Given the description of an element on the screen output the (x, y) to click on. 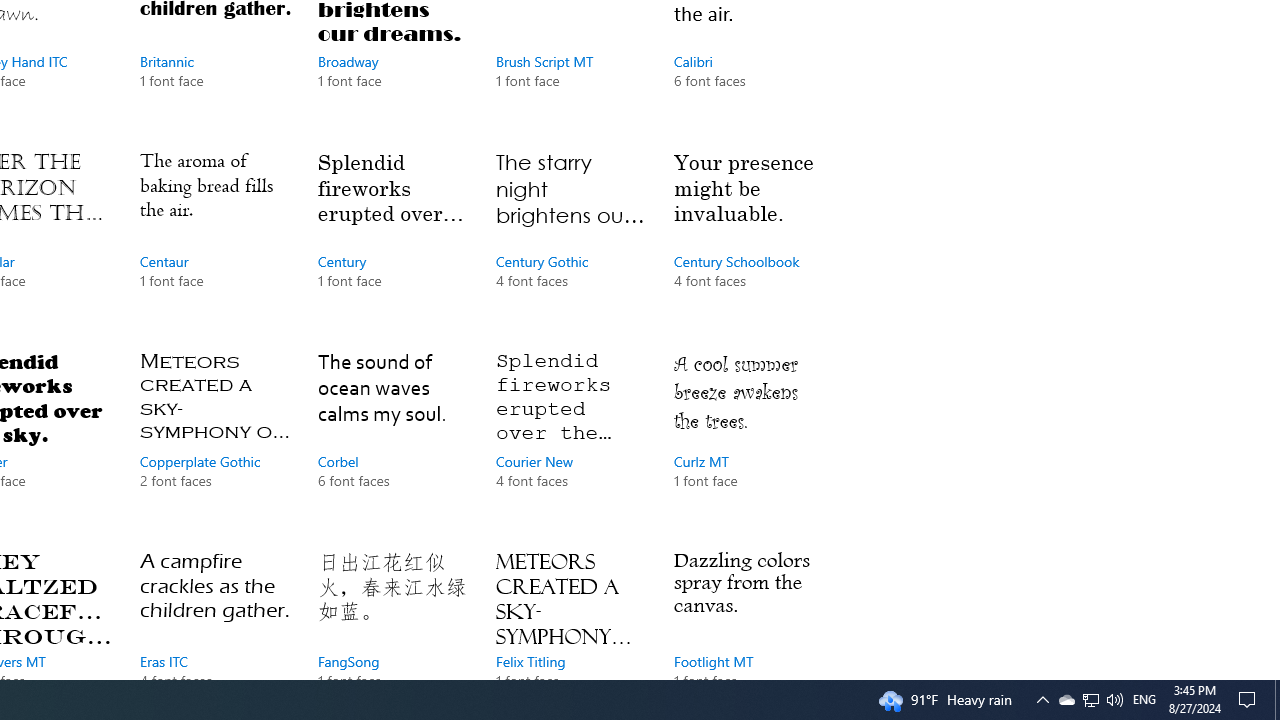
Curlz MT, 1 font face (748, 439)
Copperplate Gothic, 2 font faces (214, 439)
Footlight MT, 1 font face (748, 609)
Century Gothic, 4 font faces (570, 239)
Felix Titling, 1 font face (570, 609)
